Given the description of an element on the screen output the (x, y) to click on. 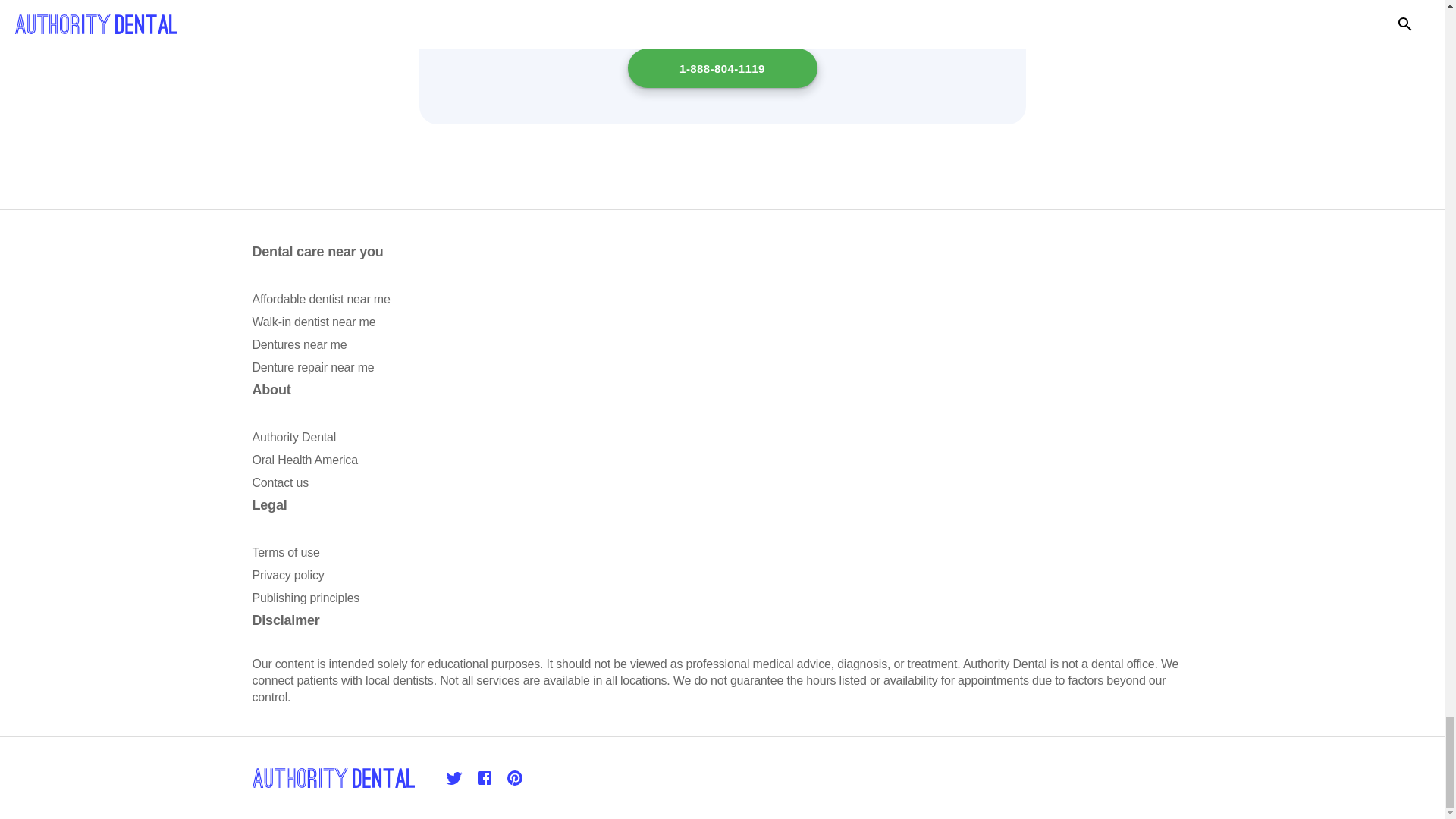
1-888-804-1119 (721, 67)
Affordable dentist near me (320, 298)
Walk-in dentist near me (313, 321)
Oral Health America (303, 459)
Authority Dental (293, 436)
Contact us (279, 481)
Publishing principles (305, 597)
Denture repair near me (312, 367)
Privacy policy (287, 574)
Terms of use (284, 552)
